Given the description of an element on the screen output the (x, y) to click on. 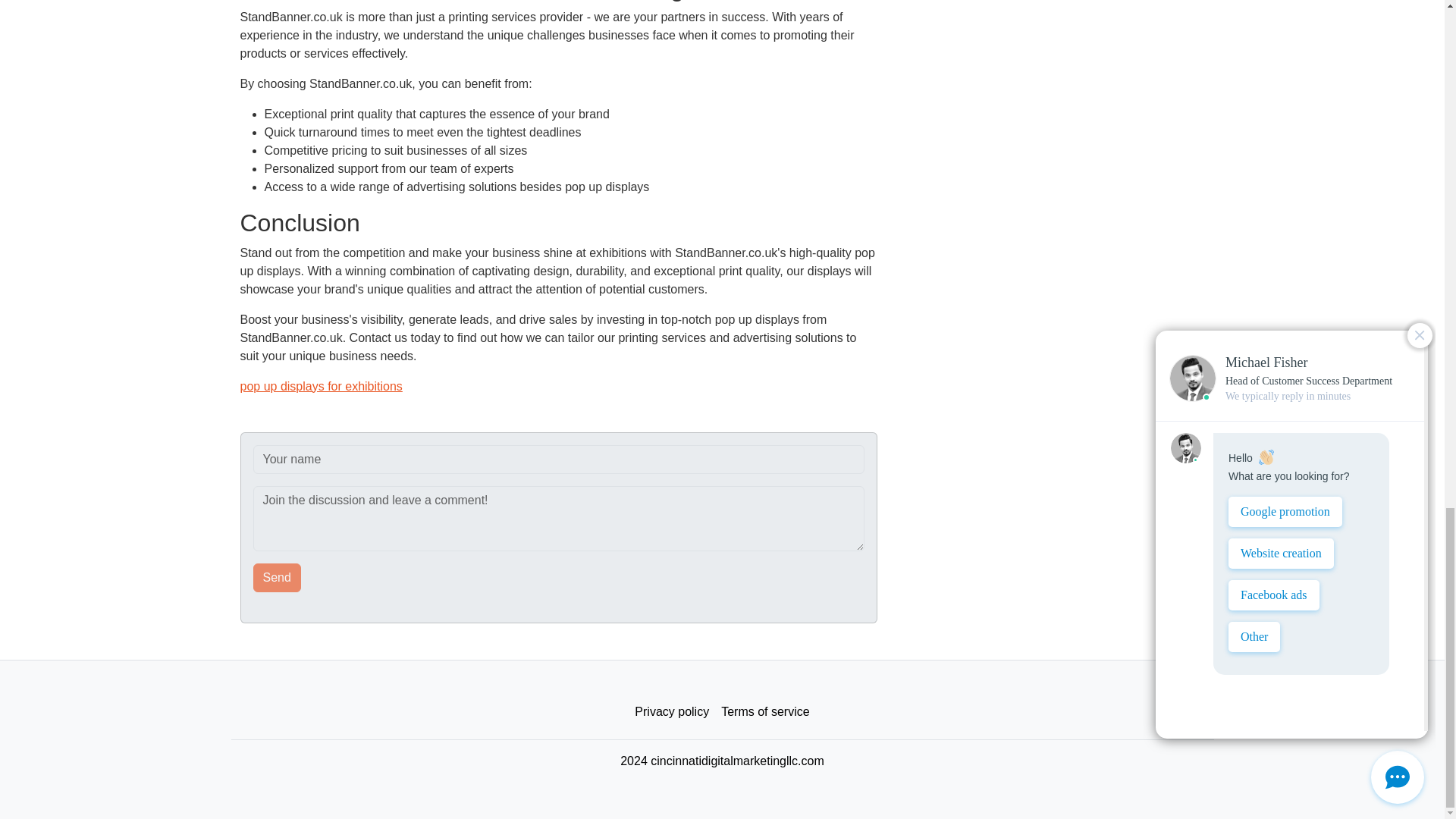
Send (277, 577)
pop up displays for exhibitions (320, 386)
Terms of service (764, 711)
Send (277, 577)
Privacy policy (671, 711)
